Given the description of an element on the screen output the (x, y) to click on. 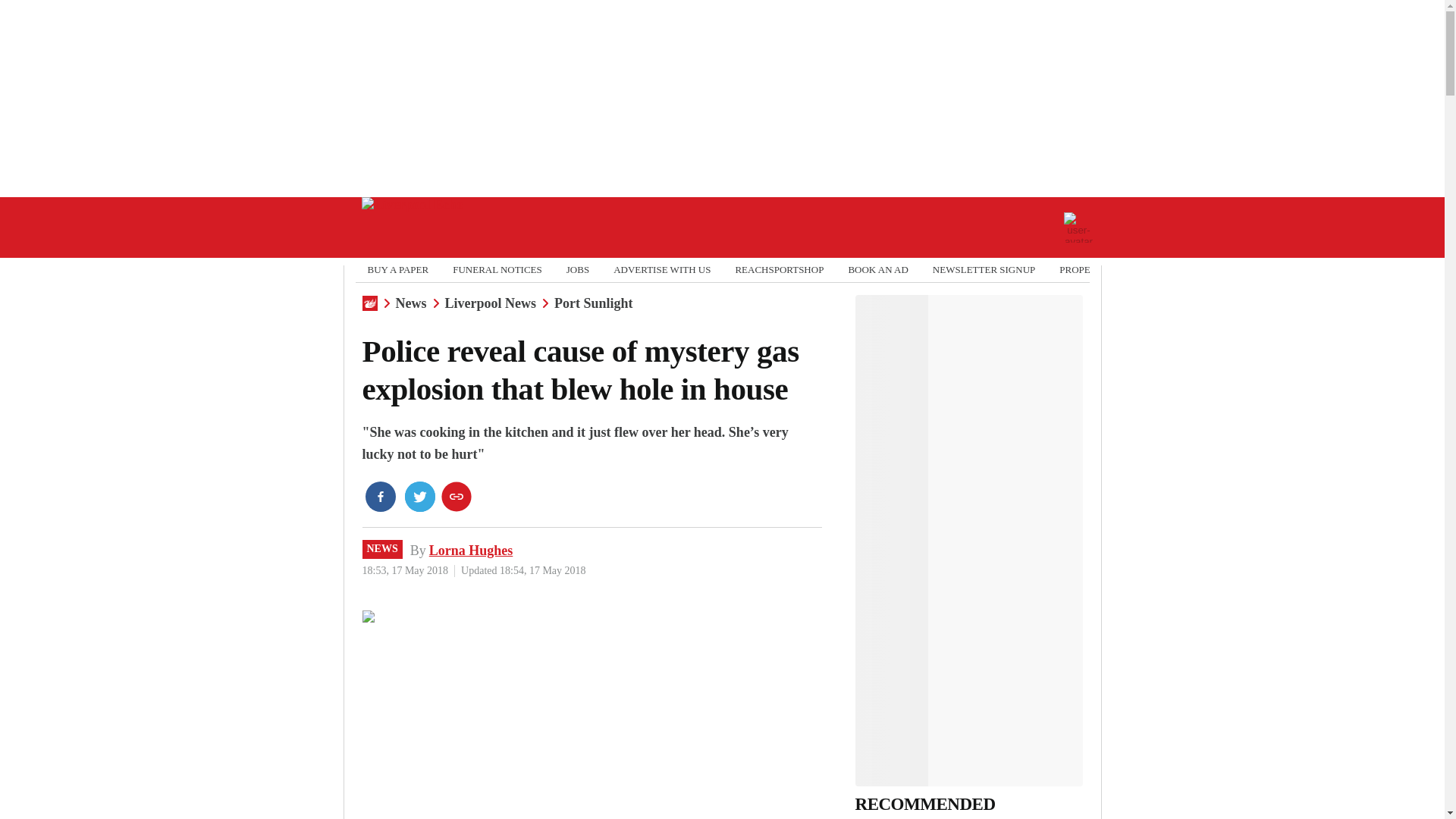
BOOK AN AD (877, 270)
Go to the Liverpool Echo homepage (411, 227)
NEWSLETTER SIGNUP (984, 270)
News (411, 303)
ADVERTISE WITH US (661, 270)
NEWS (382, 548)
BUY A PAPER (397, 270)
JOBS (577, 270)
FUNERAL NOTICES (496, 270)
Liverpool News (489, 303)
